Given the description of an element on the screen output the (x, y) to click on. 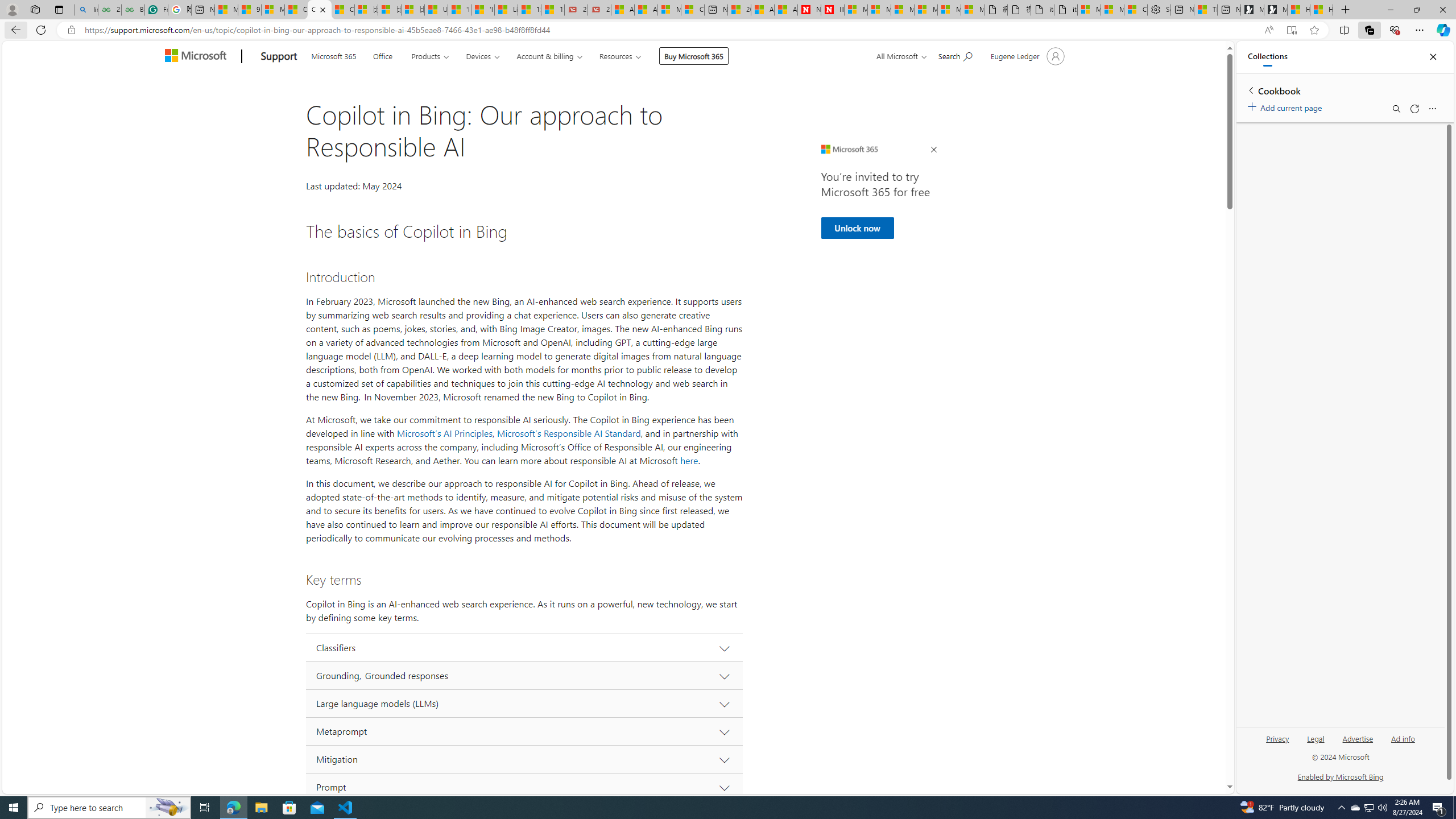
Buy Microsoft 365 (693, 55)
Add current page (1286, 105)
here (688, 460)
Settings and more (Alt+F) (1419, 29)
Tab actions menu (58, 9)
Privacy (1277, 742)
Settings (1158, 9)
